Given the description of an element on the screen output the (x, y) to click on. 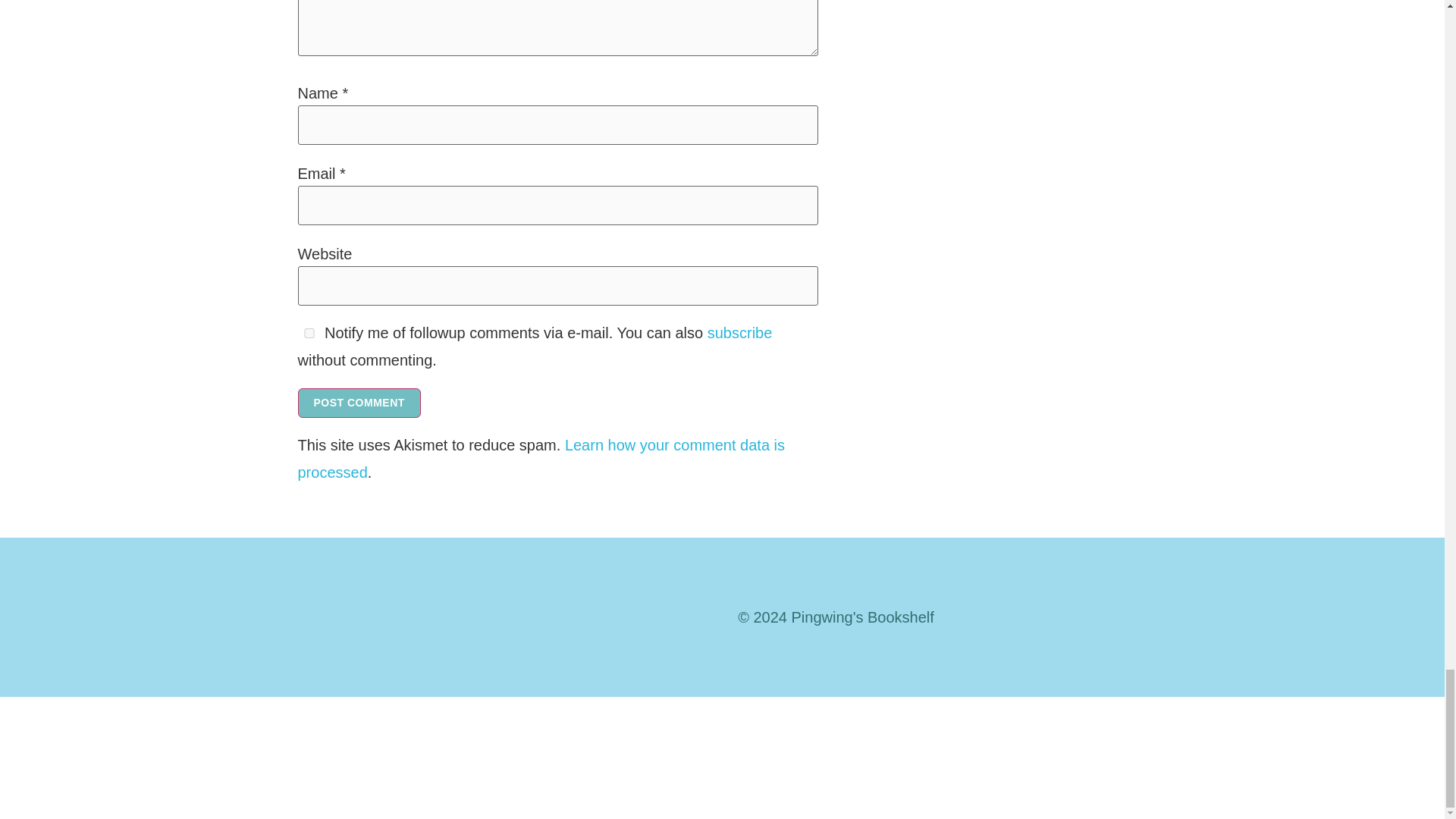
Post Comment (358, 402)
yes (308, 333)
Verified by MonsterInsights (721, 753)
